Given the description of an element on the screen output the (x, y) to click on. 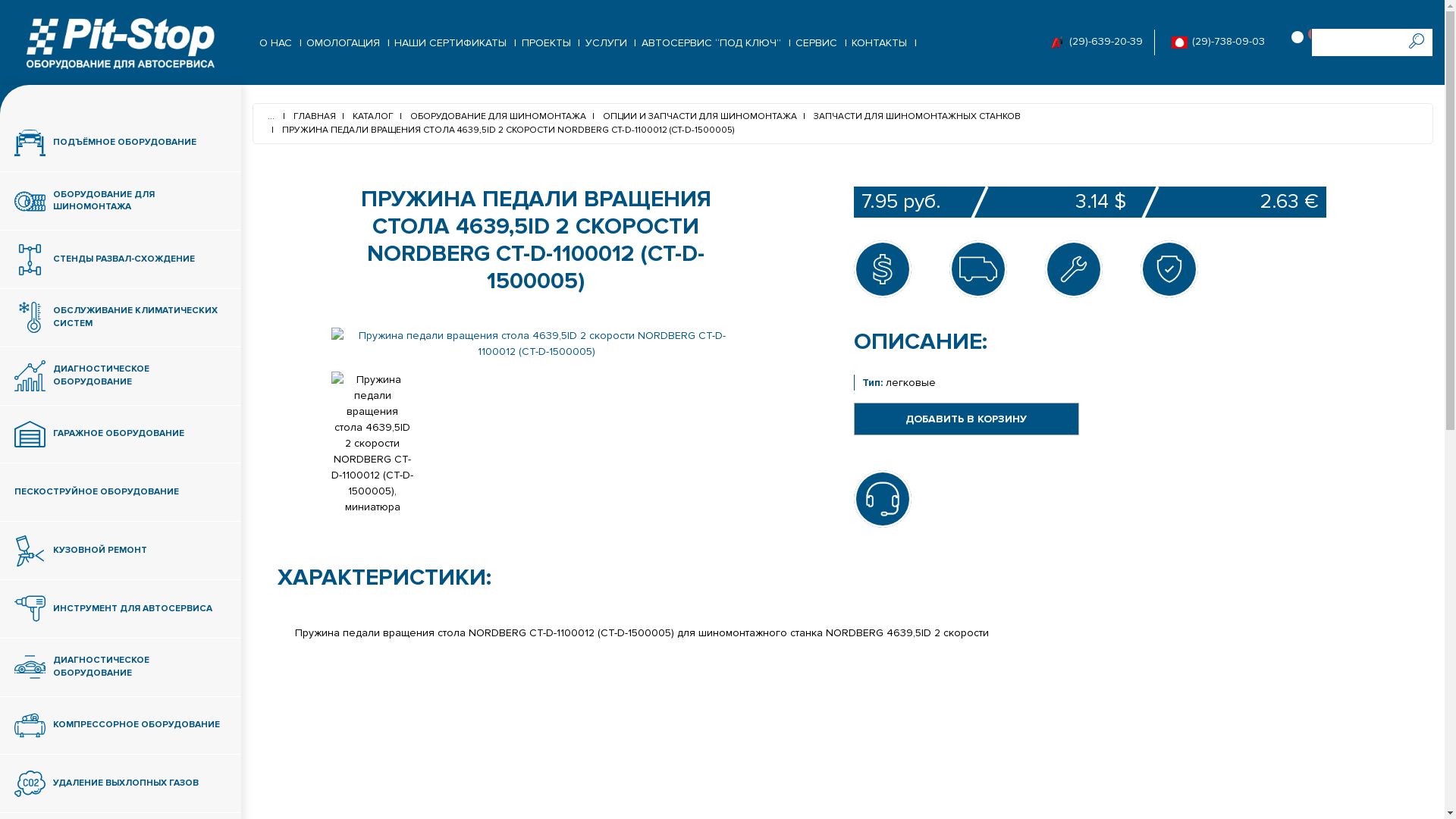
(29)-738-09-03 Element type: text (1226, 41)
(29)-639-20-39 Element type: text (1104, 41)
0 Element type: text (1301, 42)
